Given the description of an element on the screen output the (x, y) to click on. 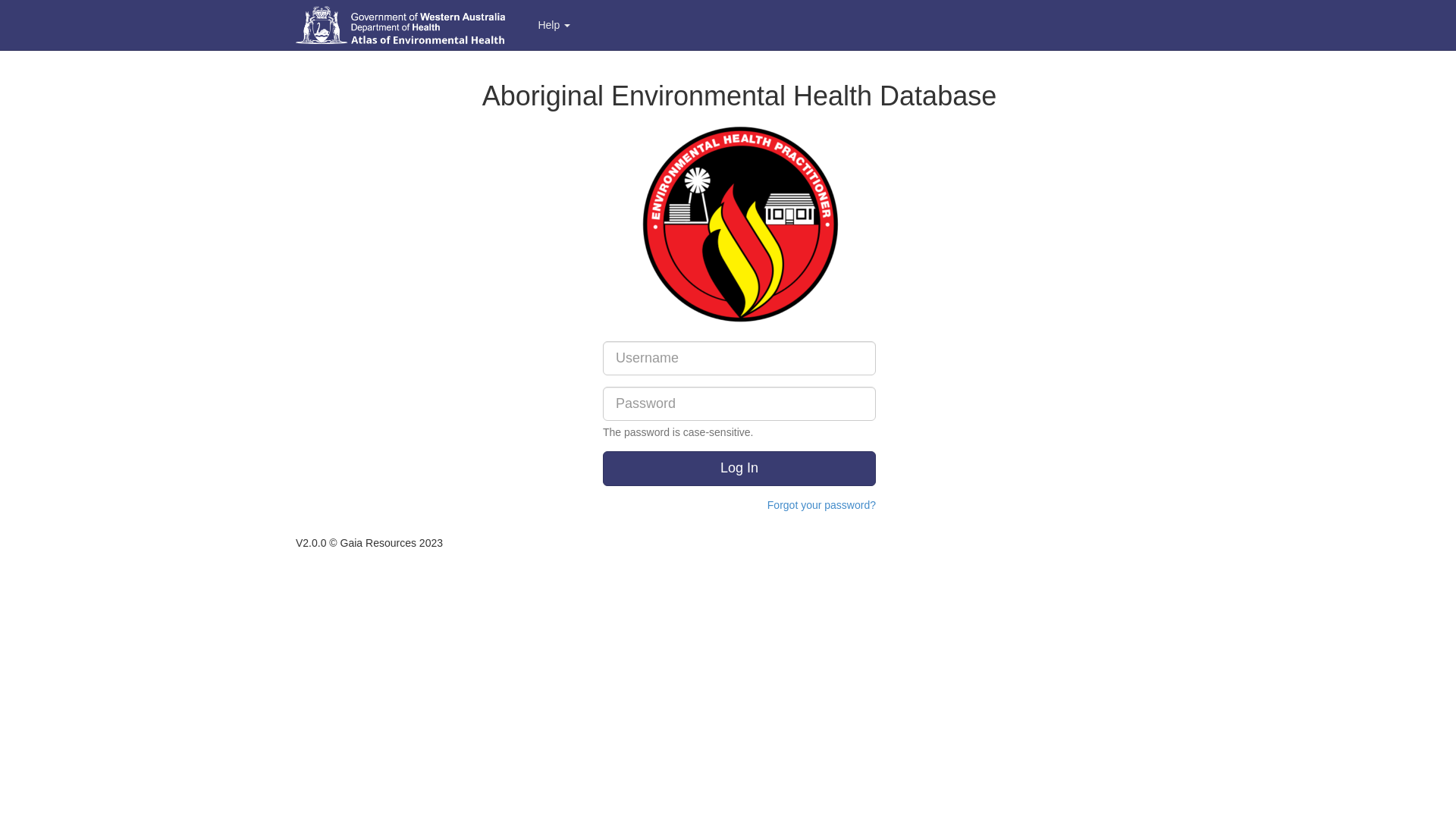
Help Element type: text (553, 24)
Log In Element type: text (738, 468)
Forgot your password? Element type: text (821, 504)
